Given the description of an element on the screen output the (x, y) to click on. 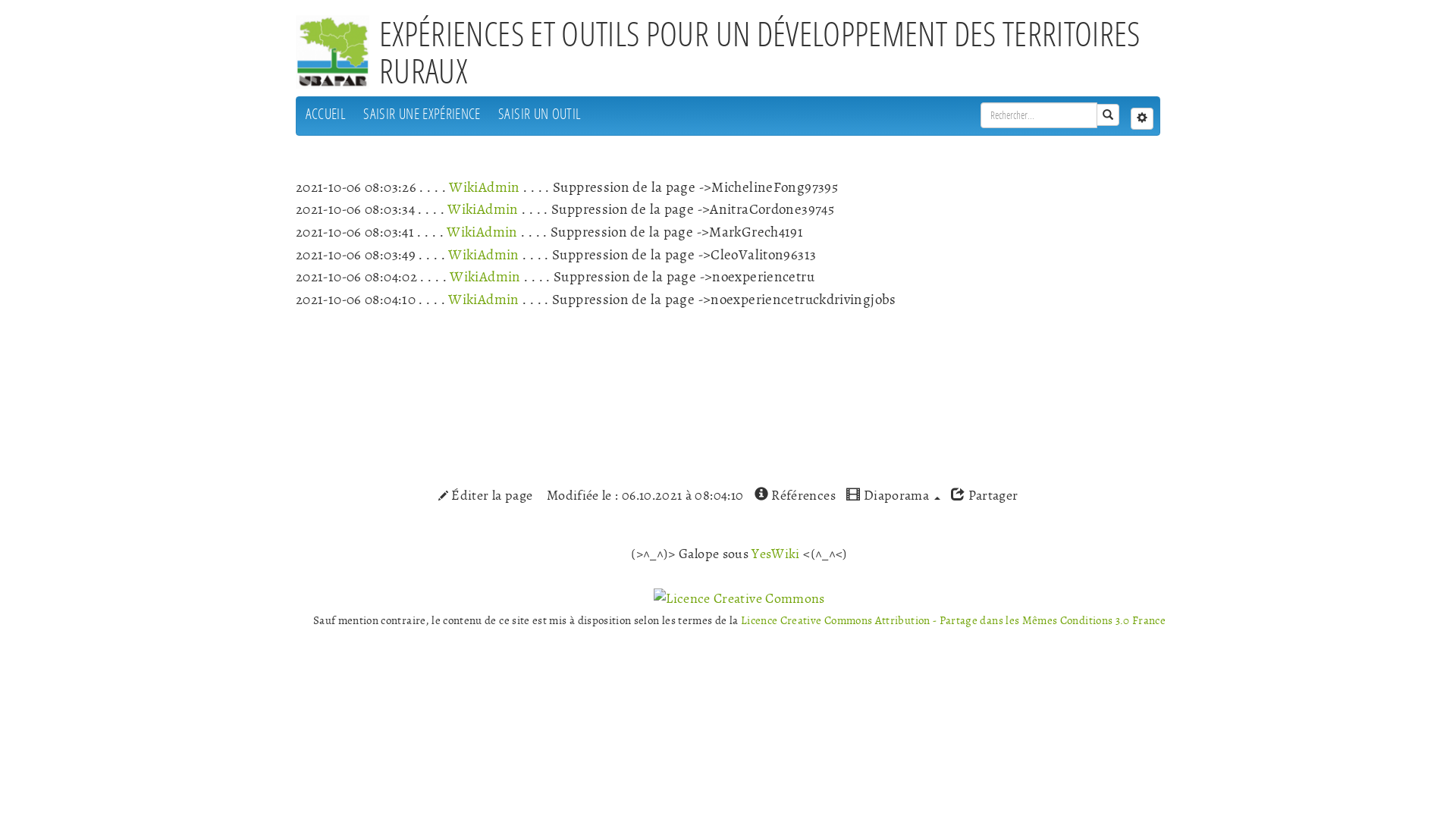
WikiAdmin Element type: text (483, 187)
WikiAdmin Element type: text (483, 299)
WikiAdmin Element type: text (483, 254)
WikiAdmin Element type: text (484, 276)
Rechercher dans YesWiki [alt-shift-C] Element type: hover (1038, 115)
WikiAdmin Element type: text (481, 232)
 Diaporama Element type: text (892, 495)
YesWiki Element type: text (775, 553)
 Partager Element type: text (984, 495)
ACCUEIL Element type: text (325, 113)
WikiAdmin Element type: text (482, 209)
SAISIR UN OUTIL Element type: text (539, 113)
Rechercher les pages comportant ce texte. Element type: hover (1107, 114)
